Given the description of an element on the screen output the (x, y) to click on. 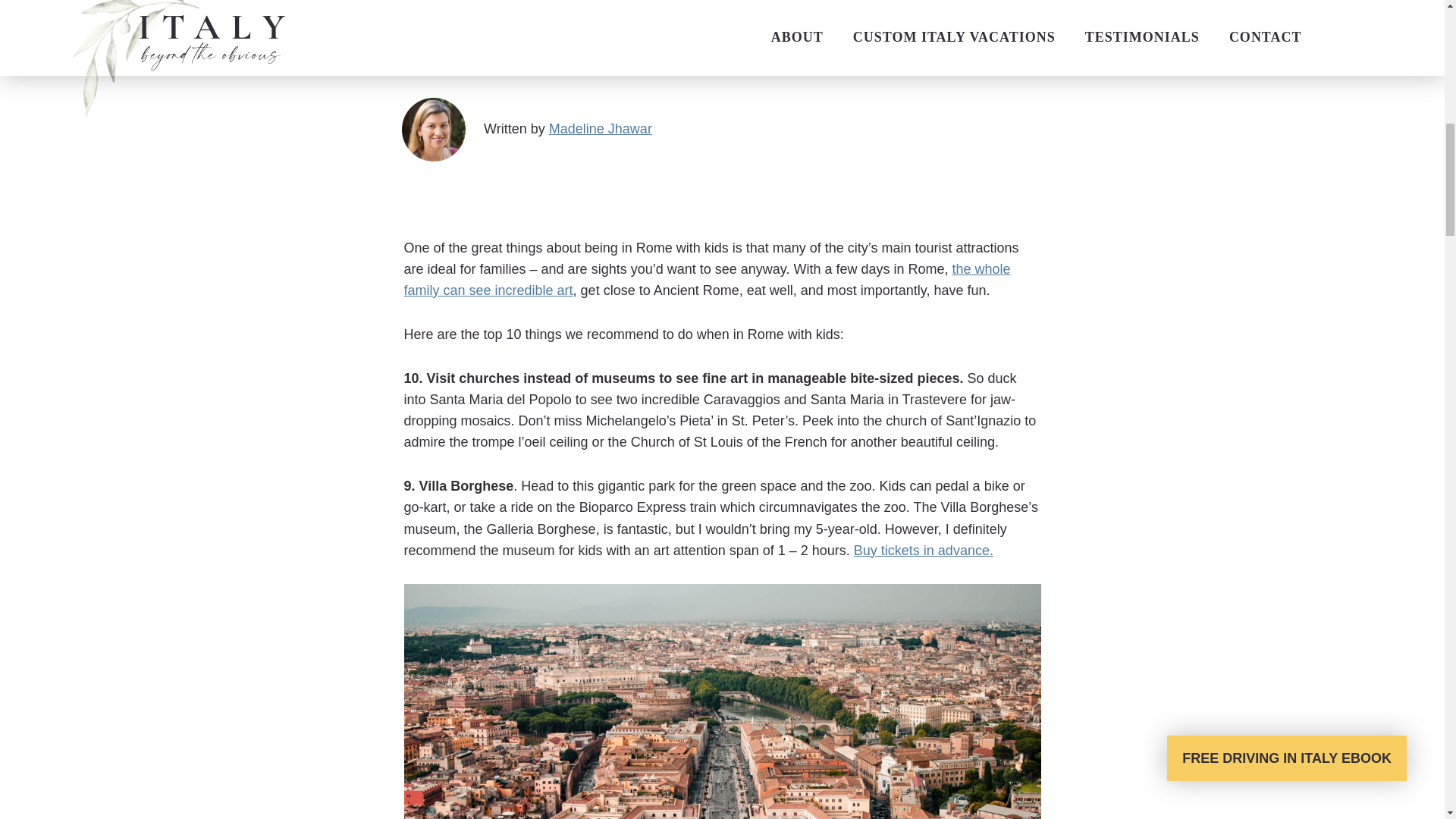
Madeline Jhawar (600, 128)
Buy tickets in advance. (922, 549)
the whole family can see incredible art (706, 279)
